Given the description of an element on the screen output the (x, y) to click on. 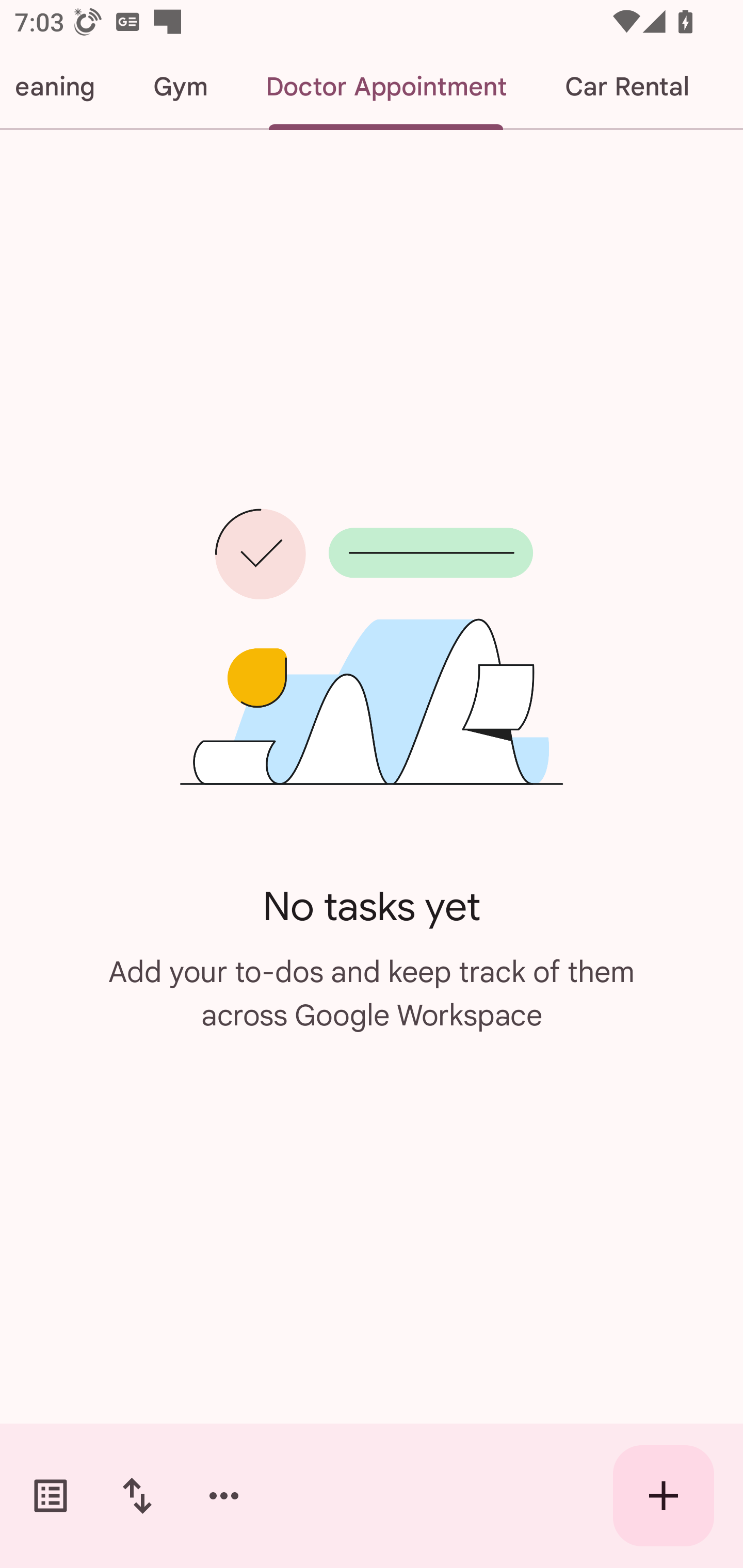
Cleaning (62, 86)
Gym (180, 86)
Car Rental (626, 86)
Switch task lists (50, 1495)
Create new task (663, 1495)
Change sort order (136, 1495)
More options (223, 1495)
